Given the description of an element on the screen output the (x, y) to click on. 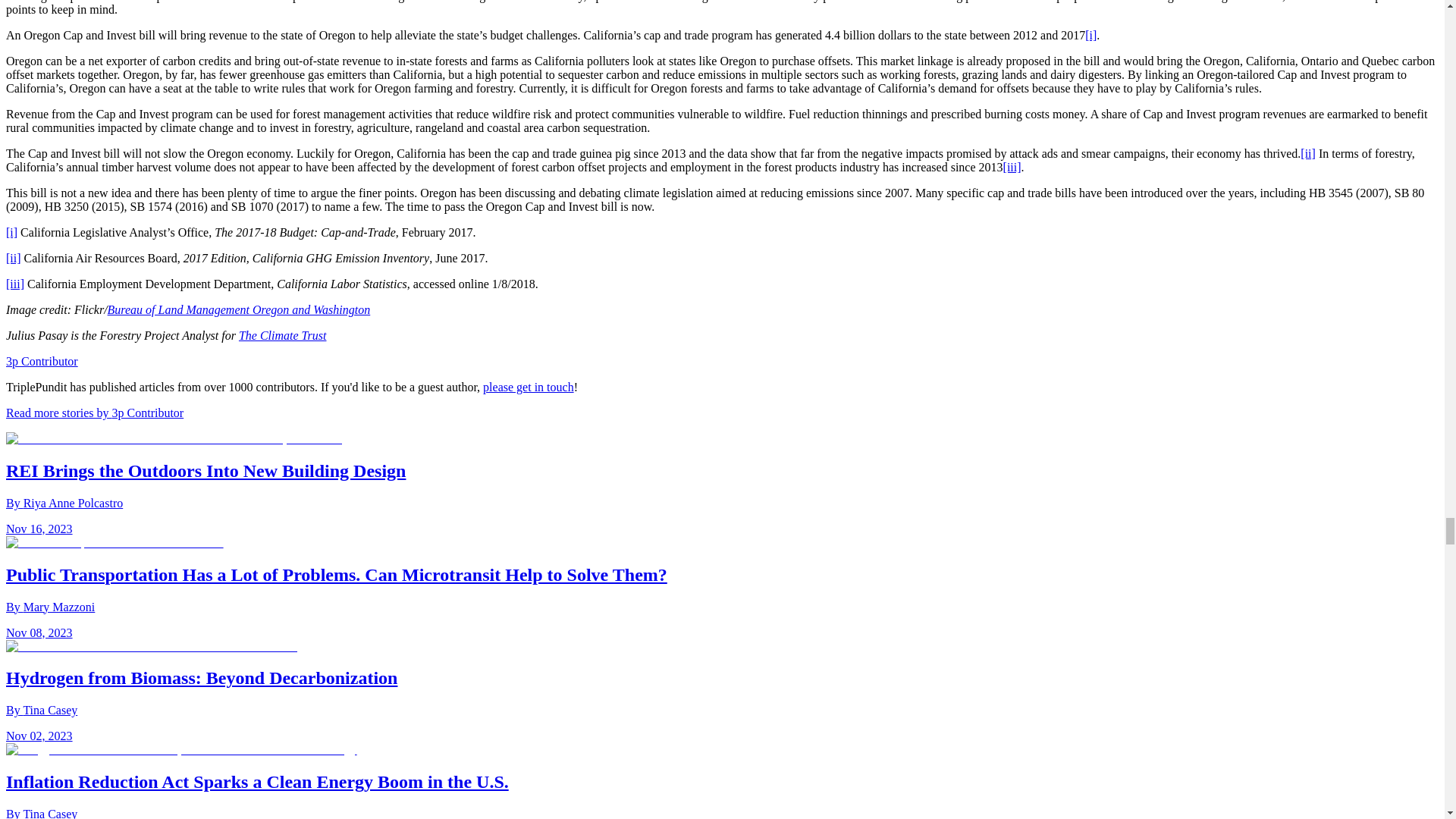
Read more stories by 3p Contributor (94, 412)
The Climate Trust (282, 335)
please get in touch (528, 386)
Bureau of Land Management Oregon and Washington (239, 309)
3p Contributor (41, 360)
3p Contributor author page (41, 360)
3p Contributor author page (94, 412)
